Given the description of an element on the screen output the (x, y) to click on. 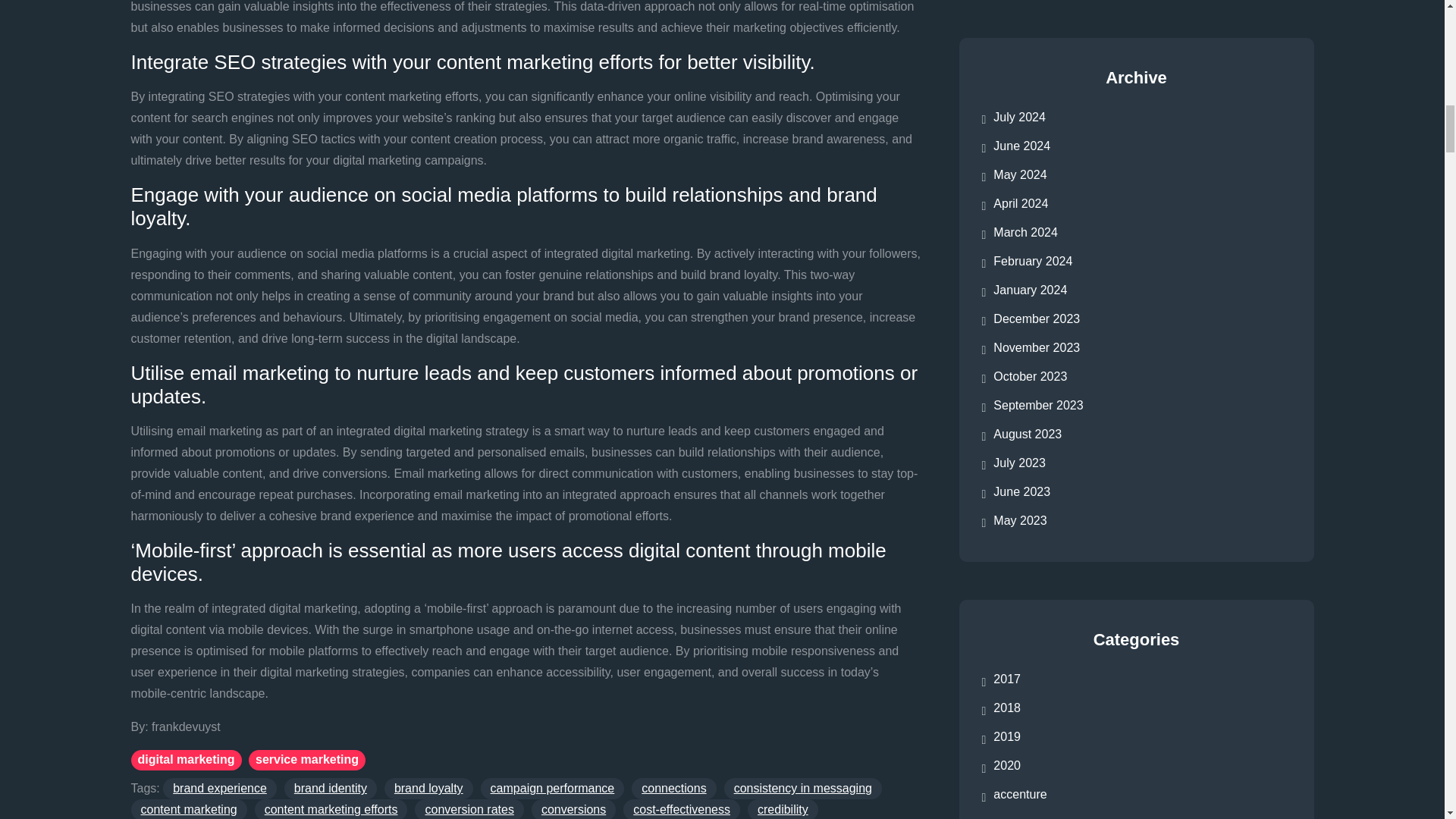
digital marketing (186, 760)
brand loyalty (428, 788)
content marketing (188, 809)
conversions (573, 809)
connections (673, 788)
credibility (783, 809)
consistency in messaging (802, 788)
conversion rates (468, 809)
frankdevuyst (186, 726)
brand identity (330, 788)
cost-effectiveness (681, 809)
content marketing efforts (330, 809)
brand experience (219, 788)
service marketing (306, 760)
campaign performance (552, 788)
